Given the description of an element on the screen output the (x, y) to click on. 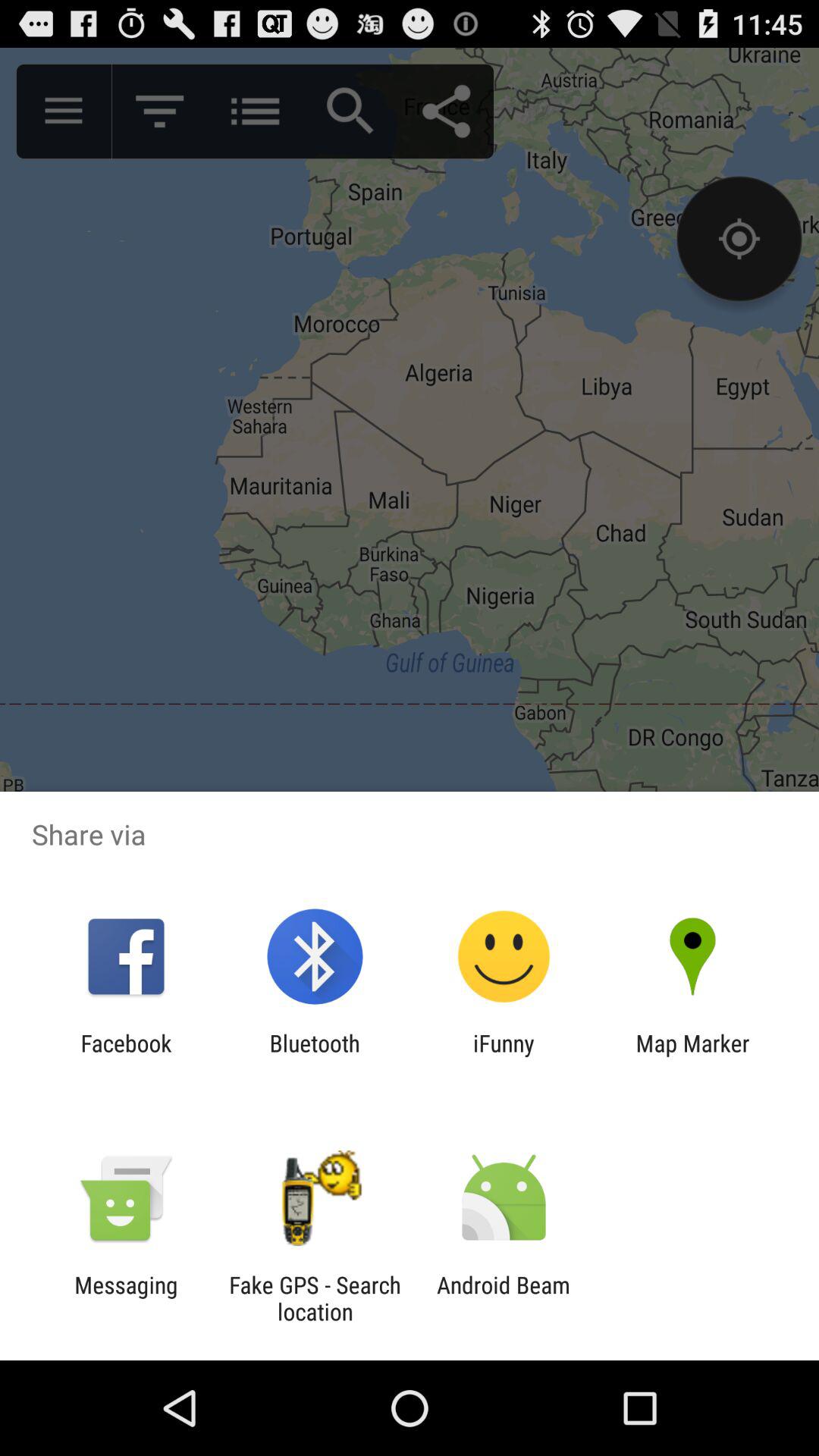
turn on the messaging icon (126, 1298)
